Given the description of an element on the screen output the (x, y) to click on. 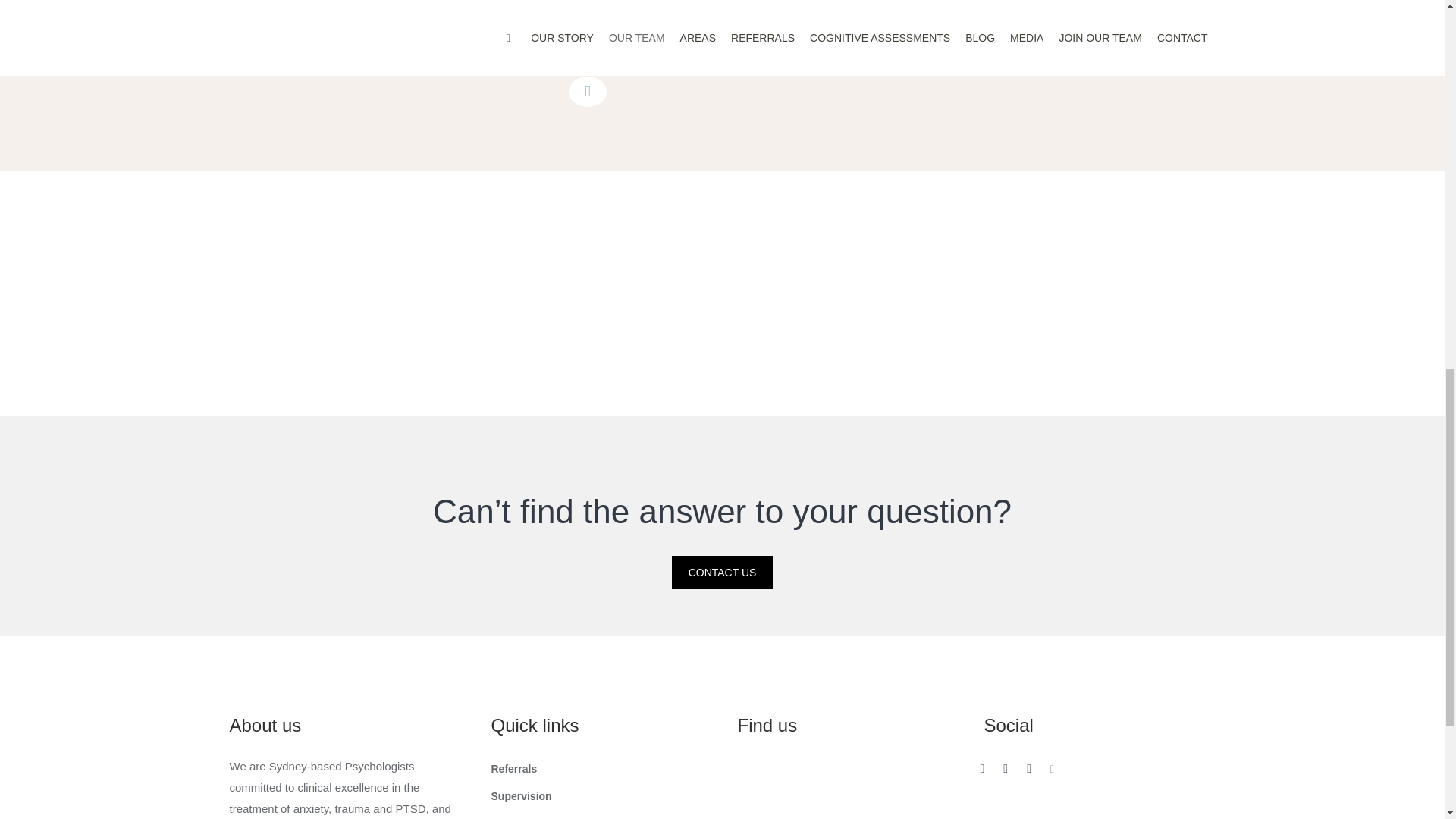
psychologist-rose-bay - McKinnon Psychology (844, 292)
psychologist-paddington - McKinnon Psychology (599, 292)
psychologist-bronte - McKinnon Psychology (1088, 292)
psychologist-bondi - McKinnon Psychology (116, 292)
psychologist-bondi-junction - McKinnon Psychology (355, 292)
